Given the description of an element on the screen output the (x, y) to click on. 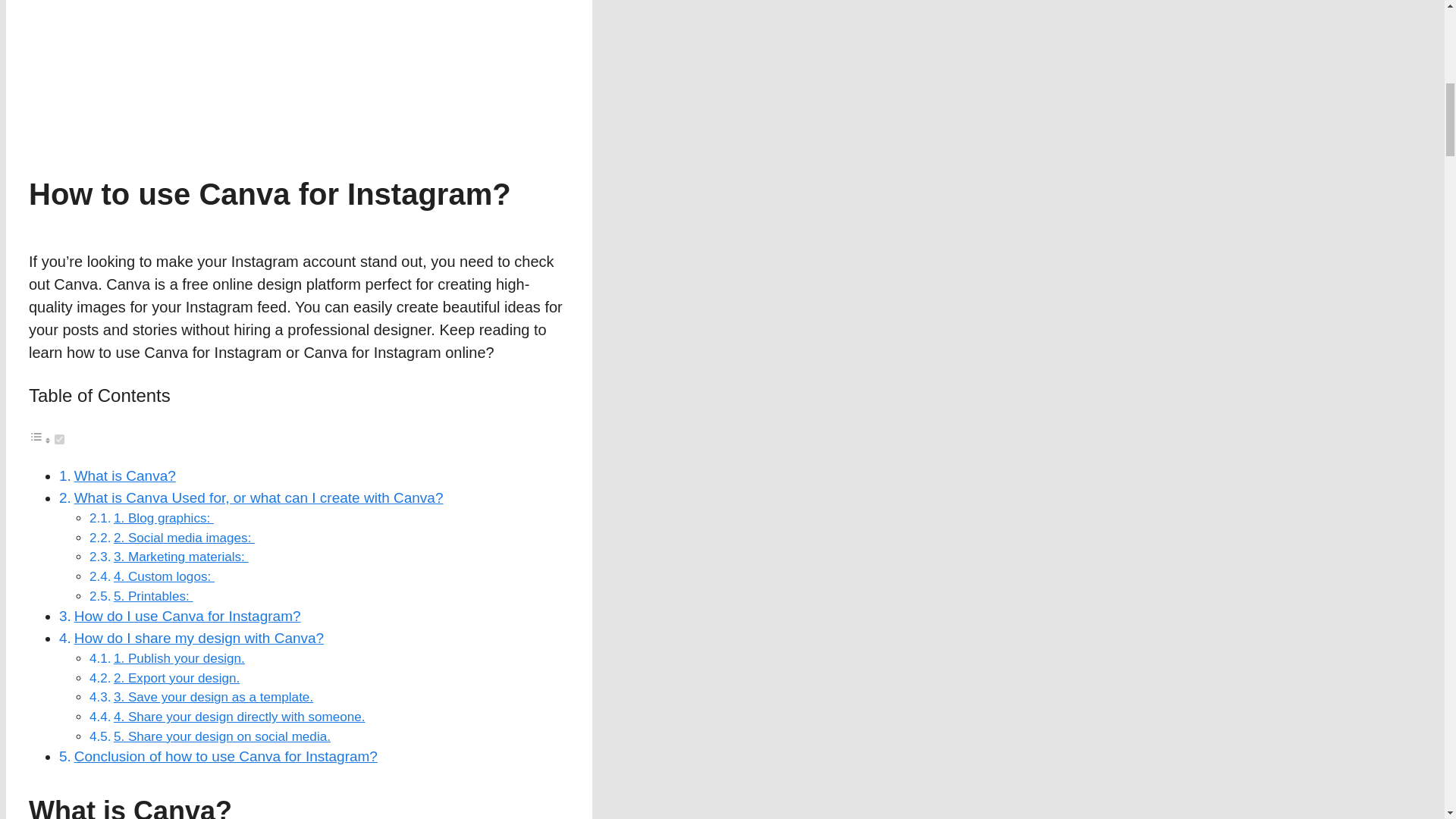
What is Canva Used for, or what can I create with Canva? (259, 497)
2. Export your design. (176, 677)
How do I share my design with Canva? (199, 637)
1. Blog graphics:  (163, 518)
3. Marketing materials:  (180, 556)
3. Save your design as a template. (213, 697)
Conclusion of how to use Canva for Instagram? (225, 756)
5. Share your design on social media. (221, 736)
on (59, 439)
1. Publish your design. (178, 658)
What is Canva? (125, 475)
How do I use Canva for Instagram? (187, 616)
